Given the description of an element on the screen output the (x, y) to click on. 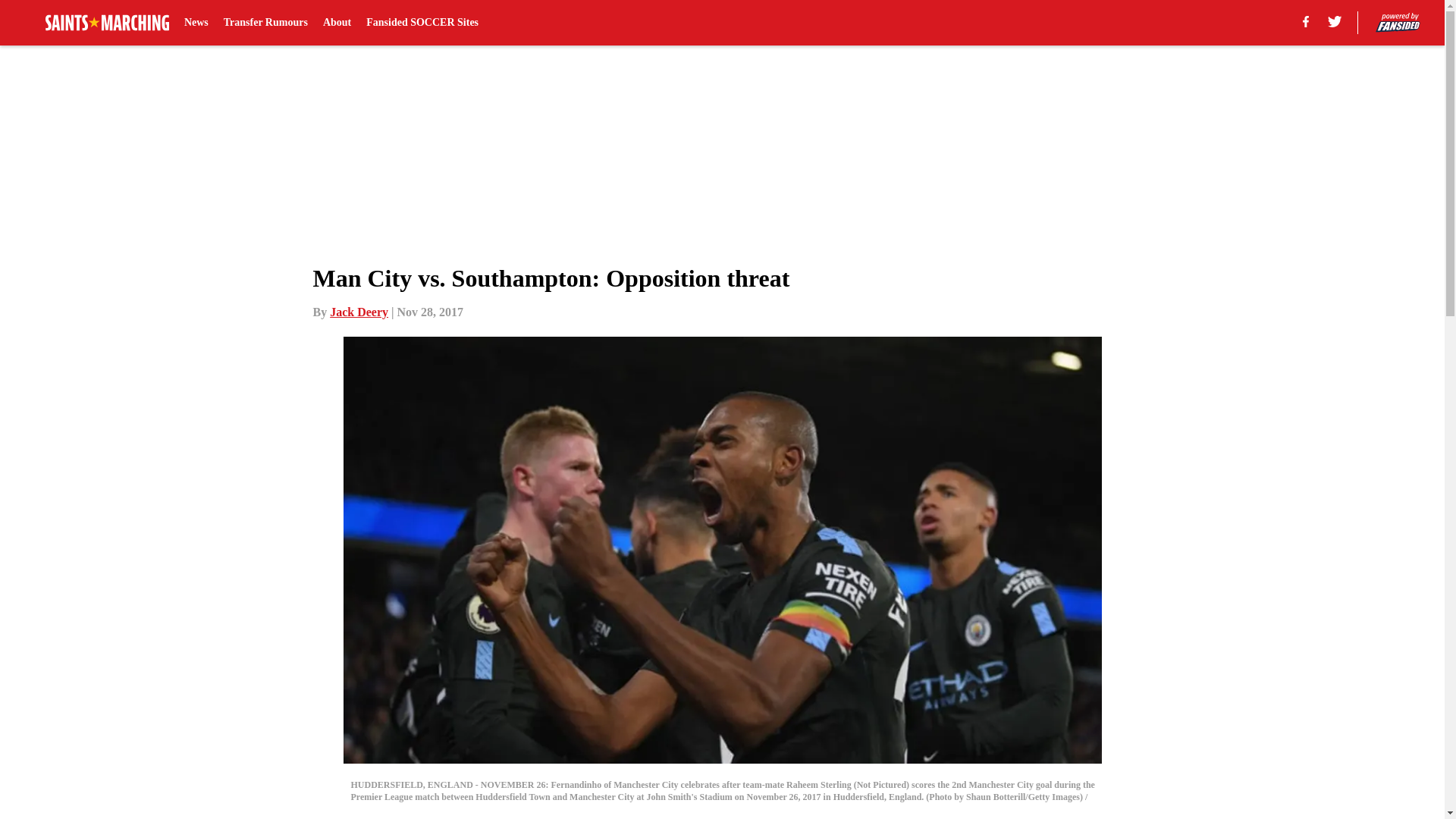
News (196, 22)
Jack Deery (359, 311)
Transfer Rumours (265, 22)
Fansided SOCCER Sites (422, 22)
About (336, 22)
